Given the description of an element on the screen output the (x, y) to click on. 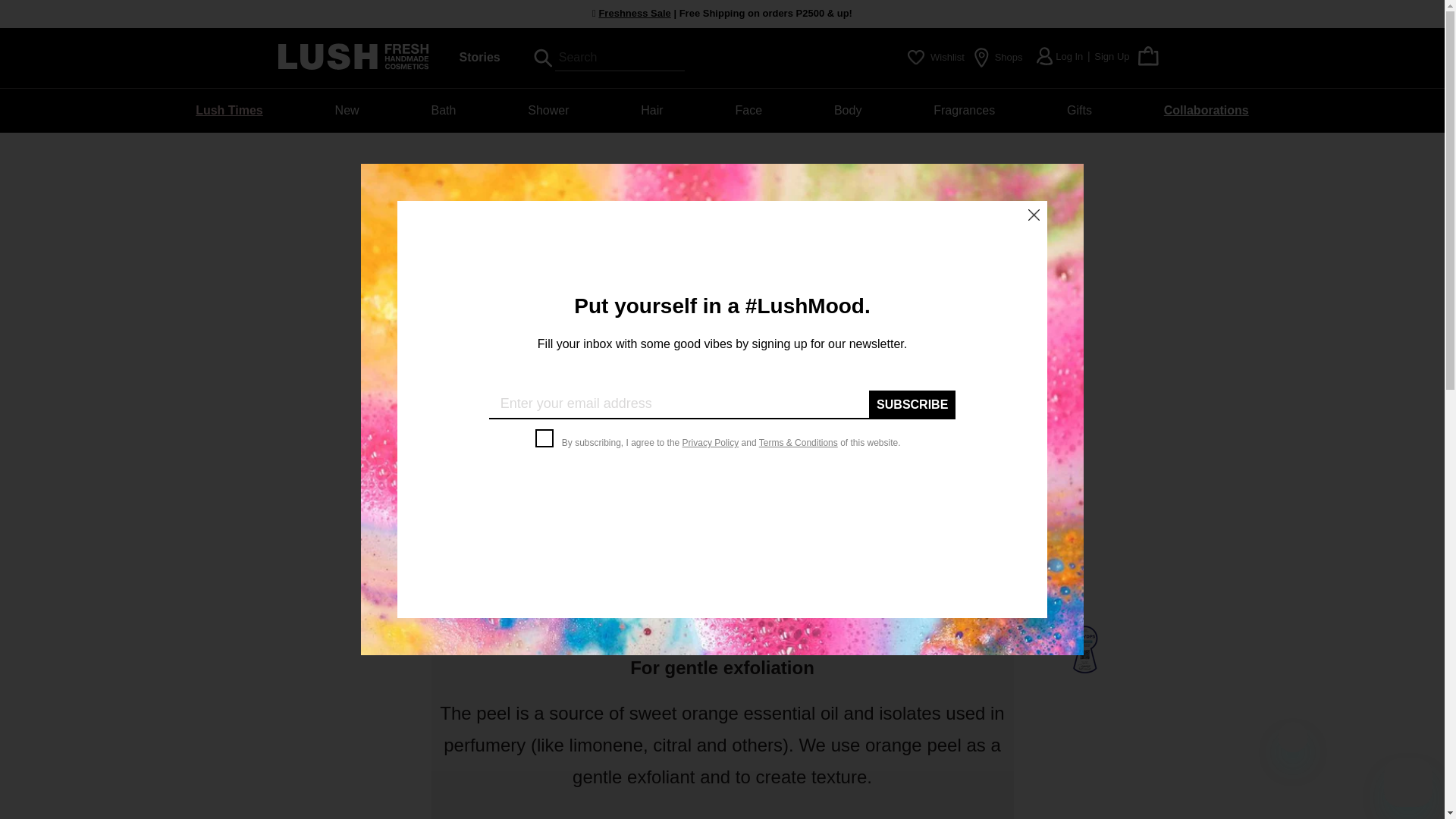
Stories (480, 56)
Bag (1148, 62)
Button to launch messaging window (1408, 782)
Sign Up (1111, 56)
Shops (998, 57)
Close message (1292, 736)
View Cart (1148, 62)
Shops (998, 57)
Subscribe (912, 404)
Log In (1069, 56)
Subscribe (912, 404)
Orange Peel (721, 441)
Wishlist (946, 57)
Freshness Sale (633, 12)
Bag (1148, 55)
